Given the description of an element on the screen output the (x, y) to click on. 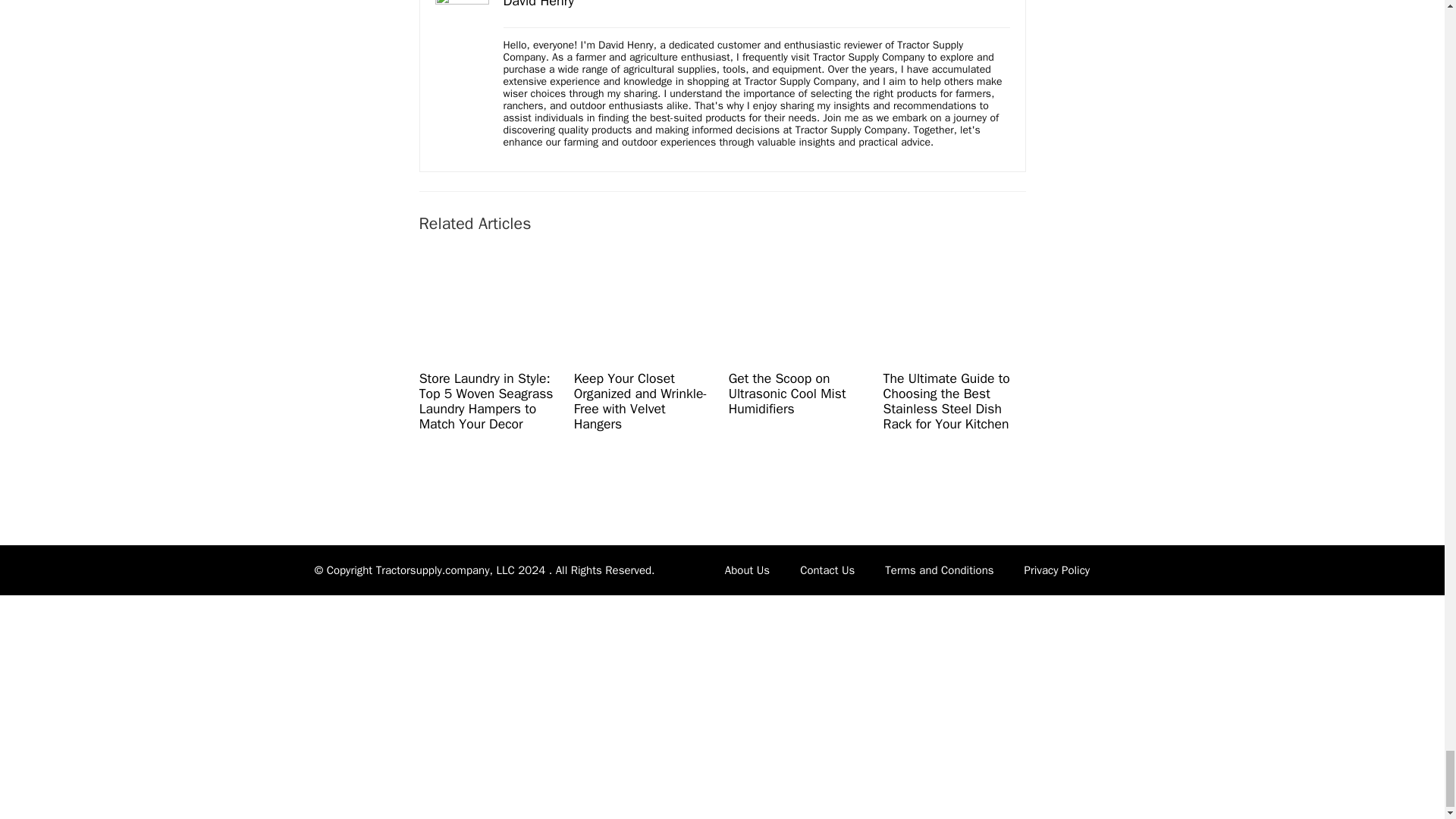
Privacy Policy (1057, 570)
Terms and Conditions (939, 570)
David Henry (538, 4)
Contact Us (826, 570)
Posts by David Henry (538, 4)
Get the Scoop on Ultrasonic Cool Mist Humidifiers (787, 393)
About Us (747, 570)
